Given the description of an element on the screen output the (x, y) to click on. 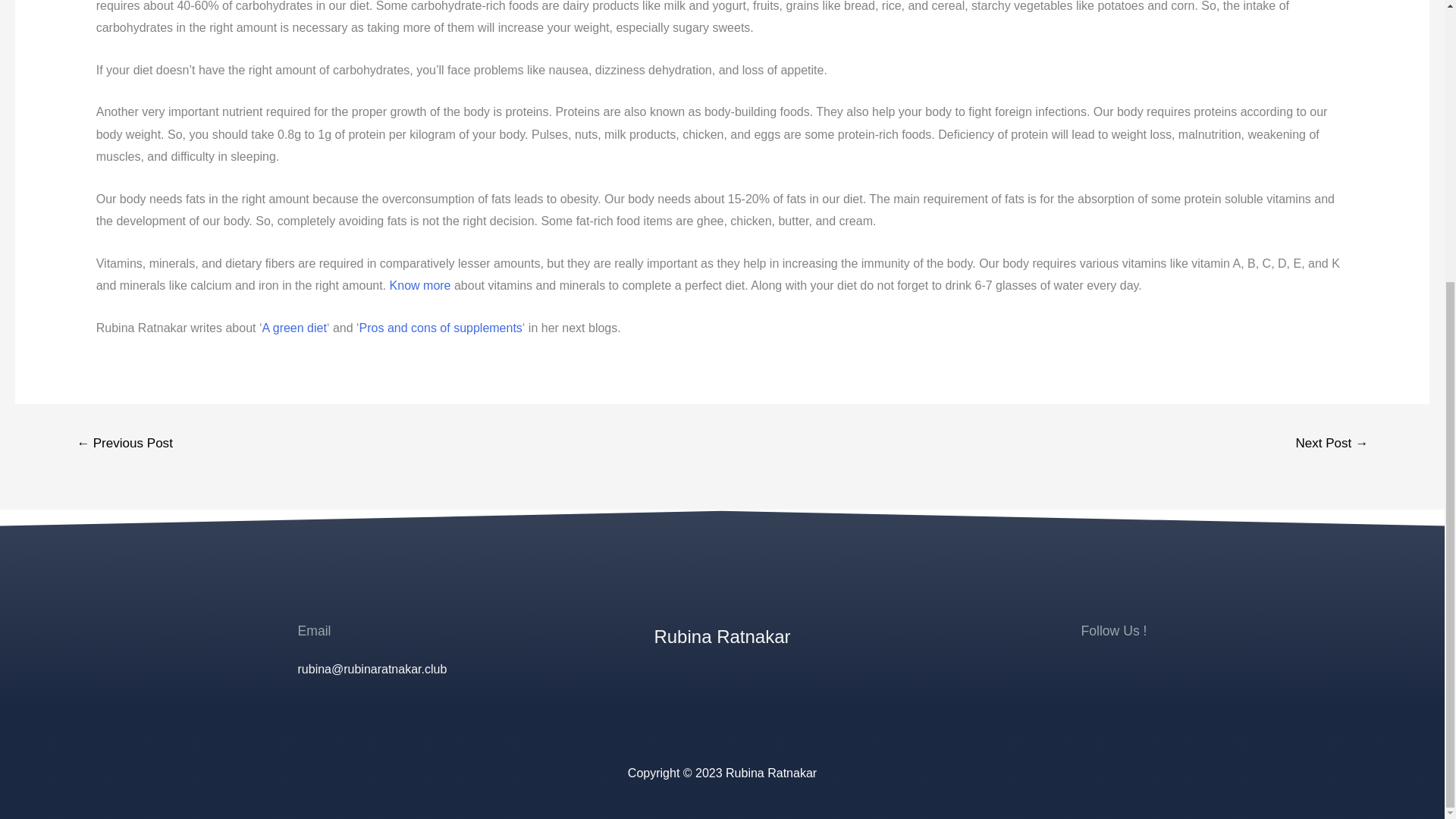
Pros and cons of supplements (440, 327)
Email (313, 630)
A green diet (294, 327)
Know more (420, 285)
